Given the description of an element on the screen output the (x, y) to click on. 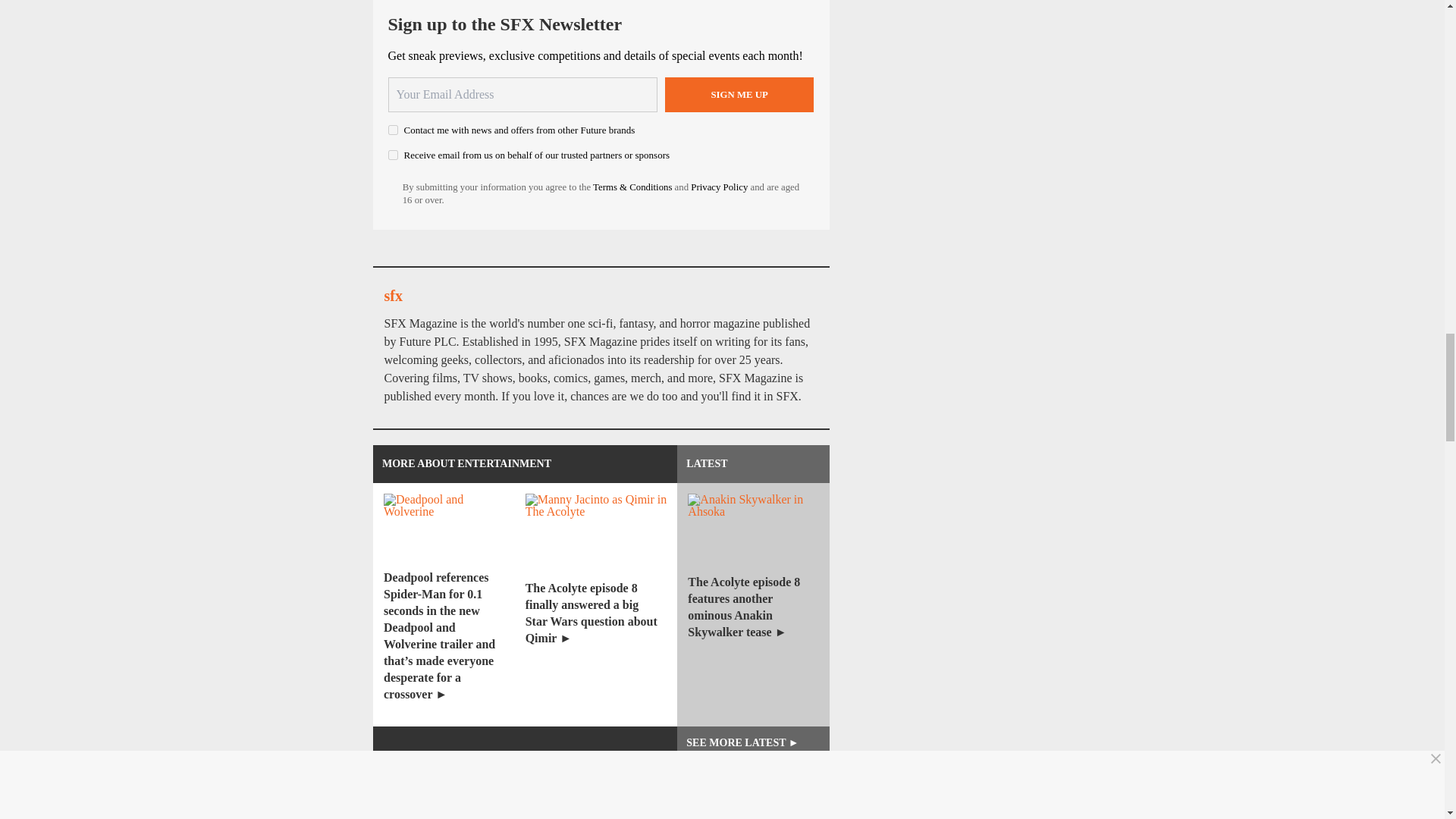
on (392, 154)
Sign me up (739, 94)
on (392, 130)
